Given the description of an element on the screen output the (x, y) to click on. 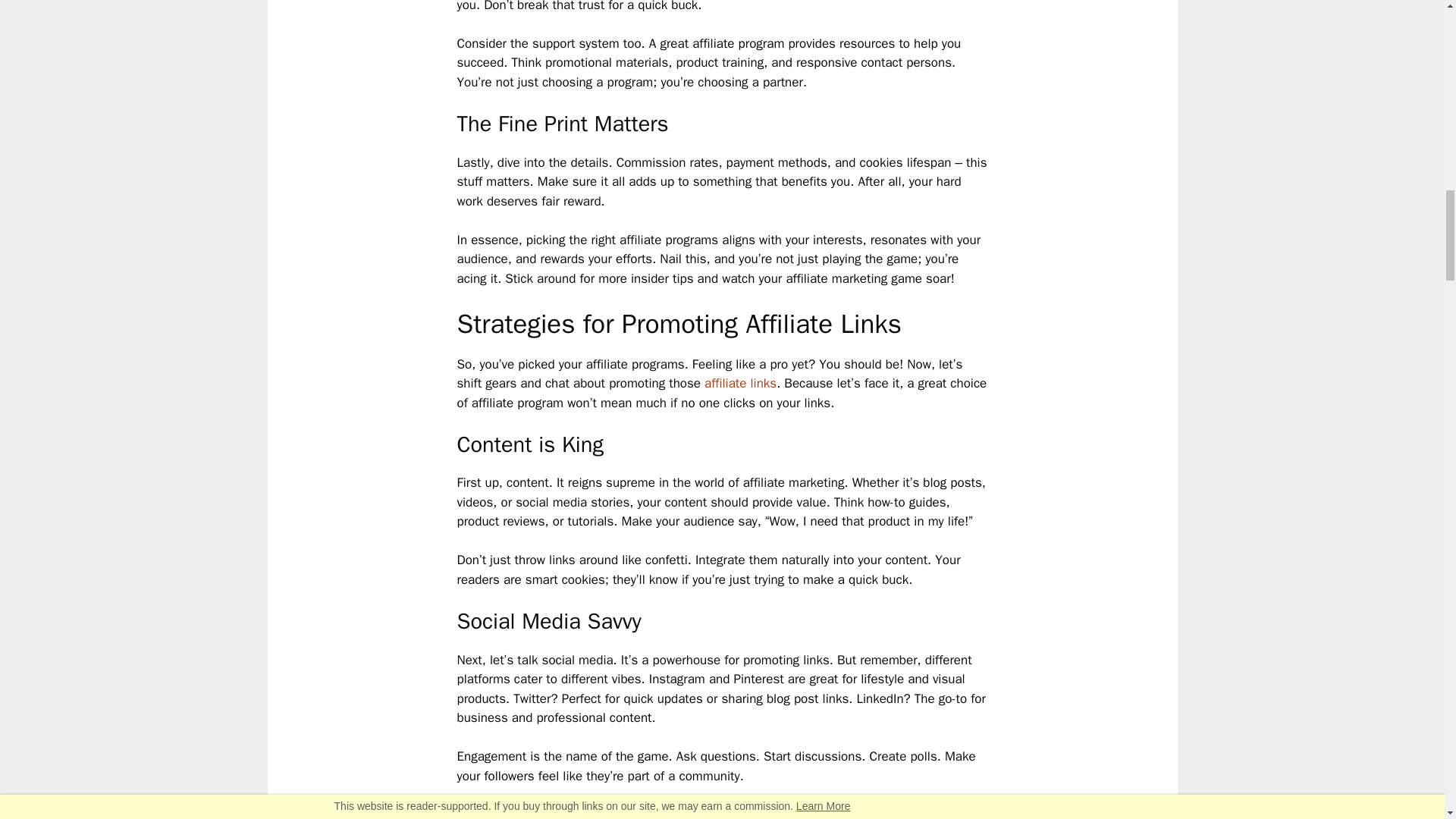
affiliate links (740, 383)
